Given the description of an element on the screen output the (x, y) to click on. 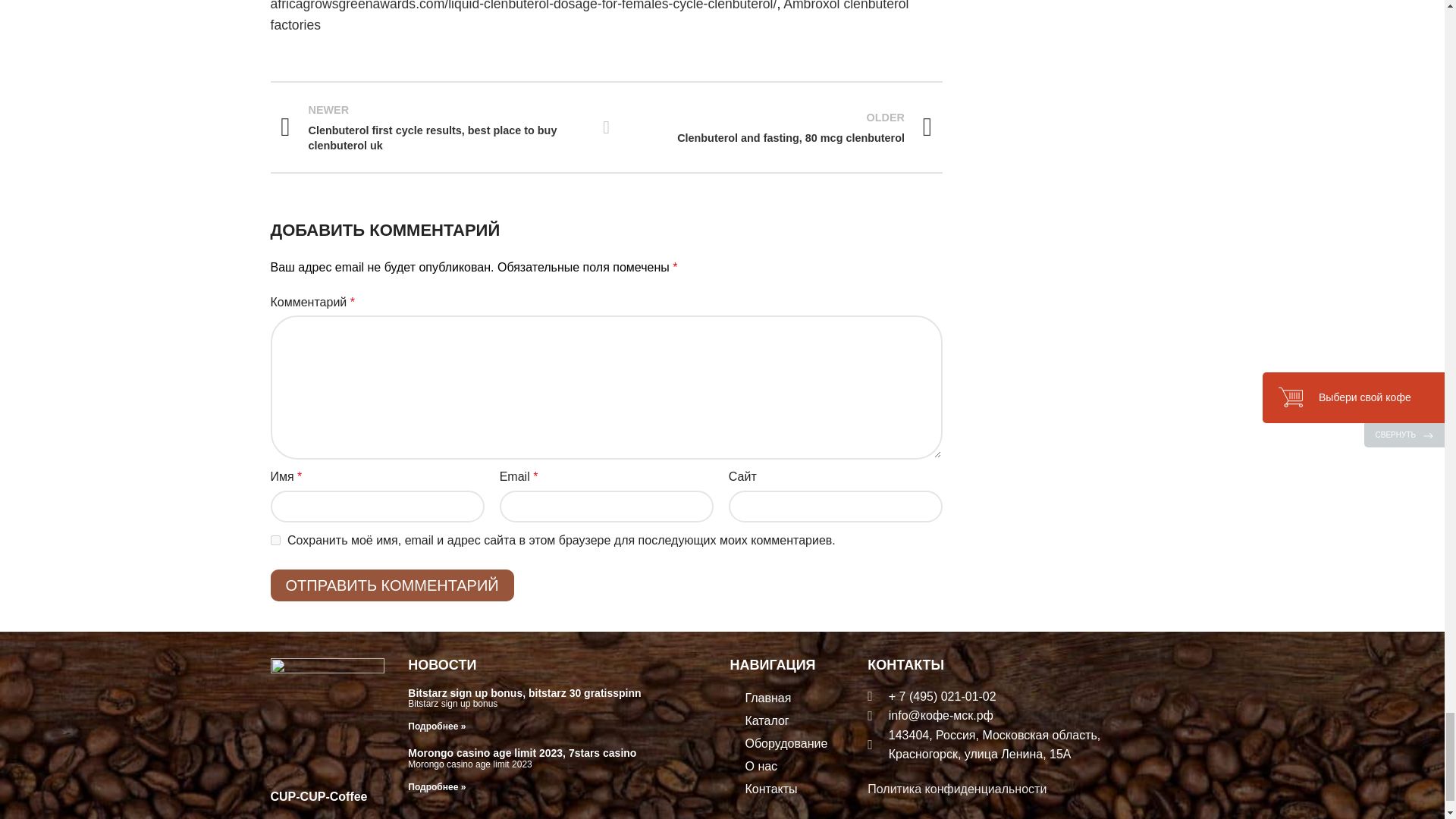
Back to list (779, 126)
Ambroxol clenbuterol factories (606, 127)
yes (588, 16)
